Given the description of an element on the screen output the (x, y) to click on. 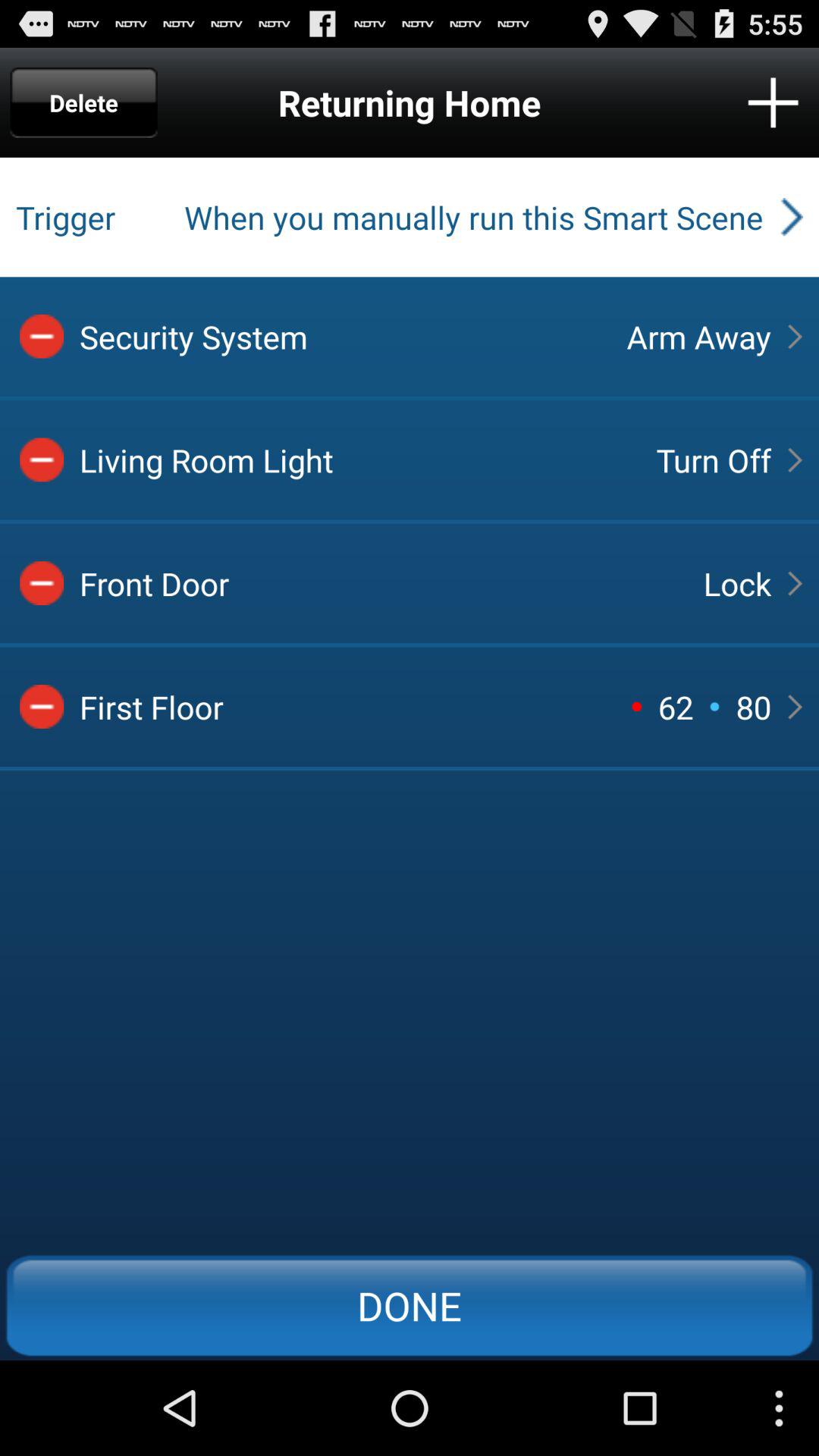
turn off icon to the left of arm away app (339, 336)
